Given the description of an element on the screen output the (x, y) to click on. 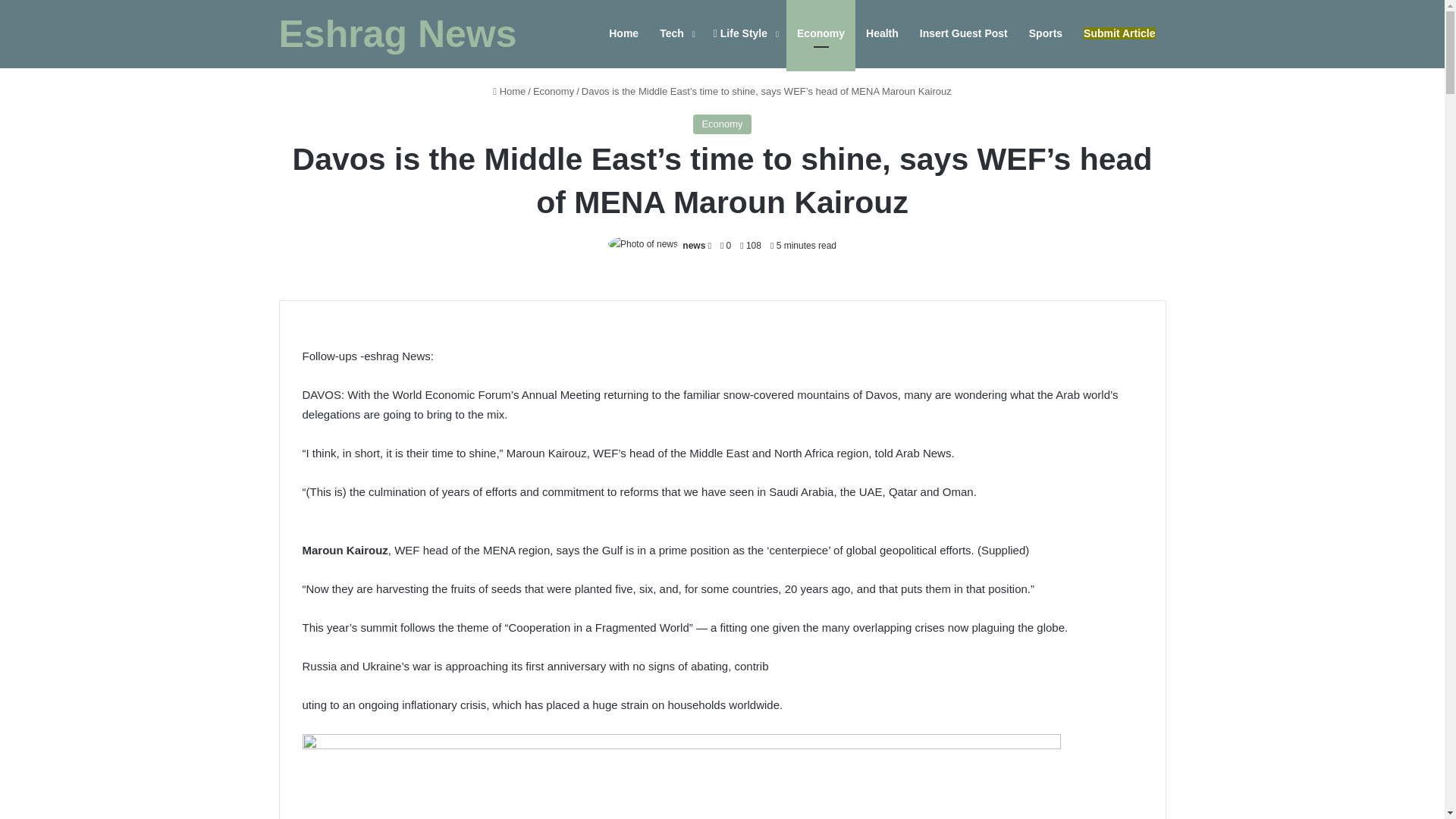
Home (509, 91)
Submit Article (1119, 33)
Eshrag News (397, 34)
Economy (722, 124)
Life Style (744, 33)
news (693, 245)
Insert Guest Post (962, 33)
Economy (821, 33)
Economy (552, 91)
news (693, 245)
Eshrag News (397, 34)
